Given the description of an element on the screen output the (x, y) to click on. 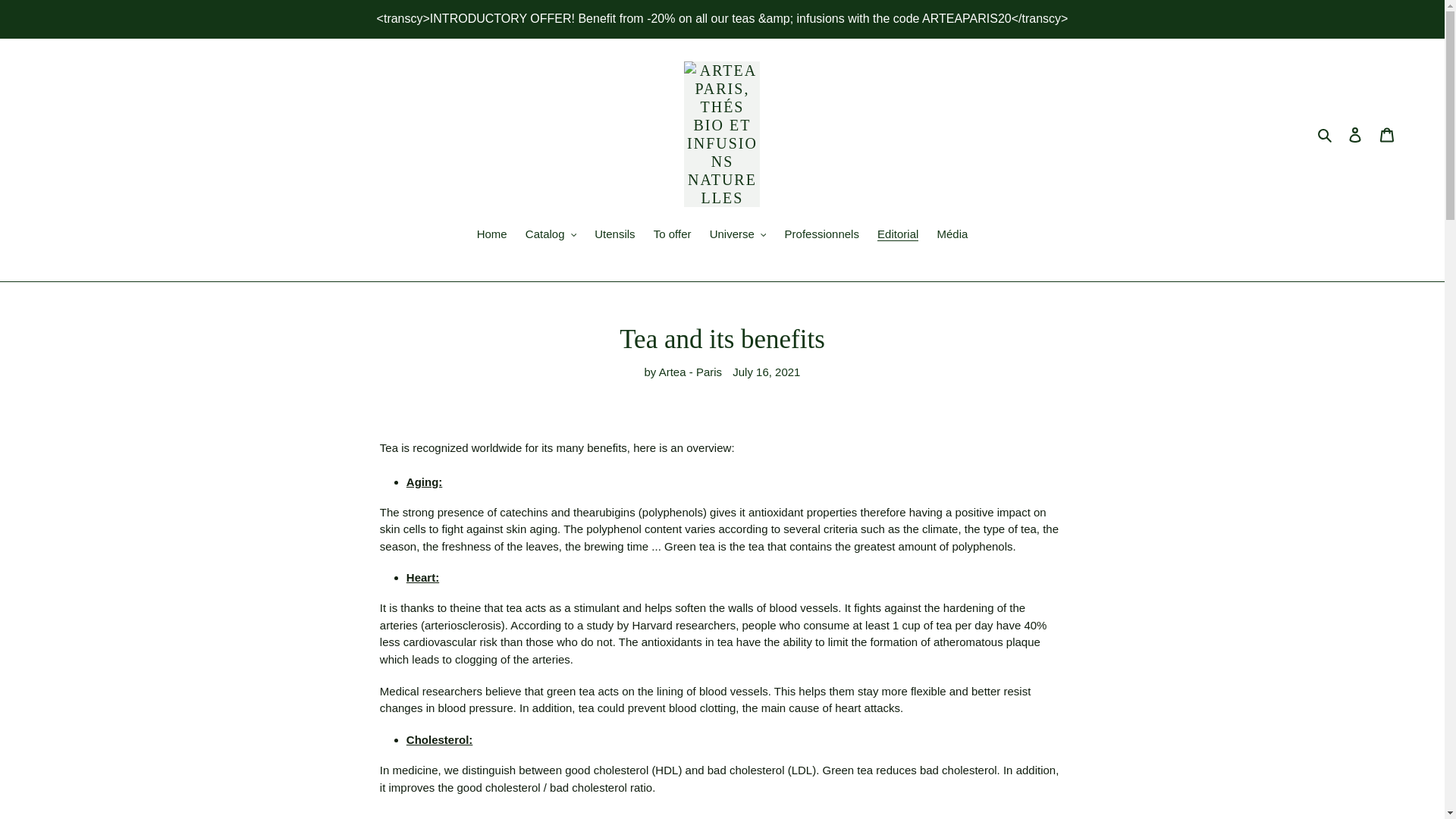
Cart (1387, 133)
Catalog (550, 235)
Home (491, 235)
Log in (1355, 133)
Search (1326, 134)
